Given the description of an element on the screen output the (x, y) to click on. 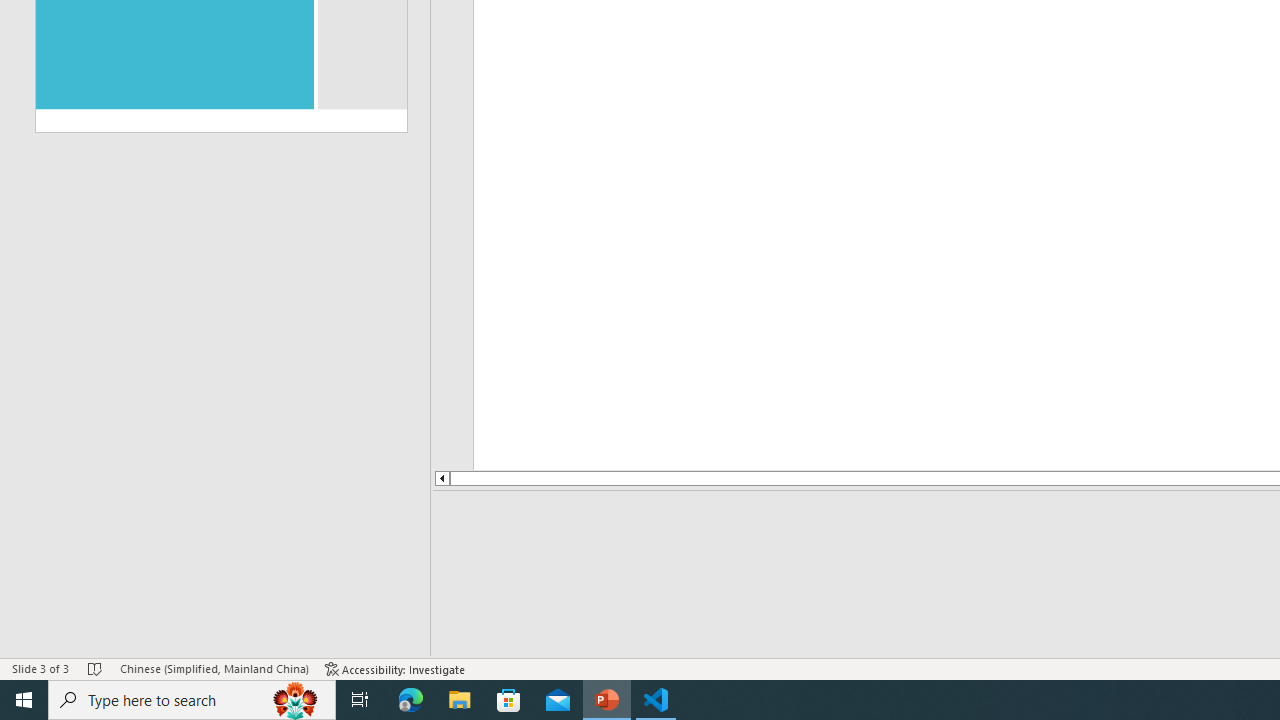
Spell Check No Errors (95, 668)
Accessibility Checker Accessibility: Investigate (395, 668)
Line up (441, 478)
